Given the description of an element on the screen output the (x, y) to click on. 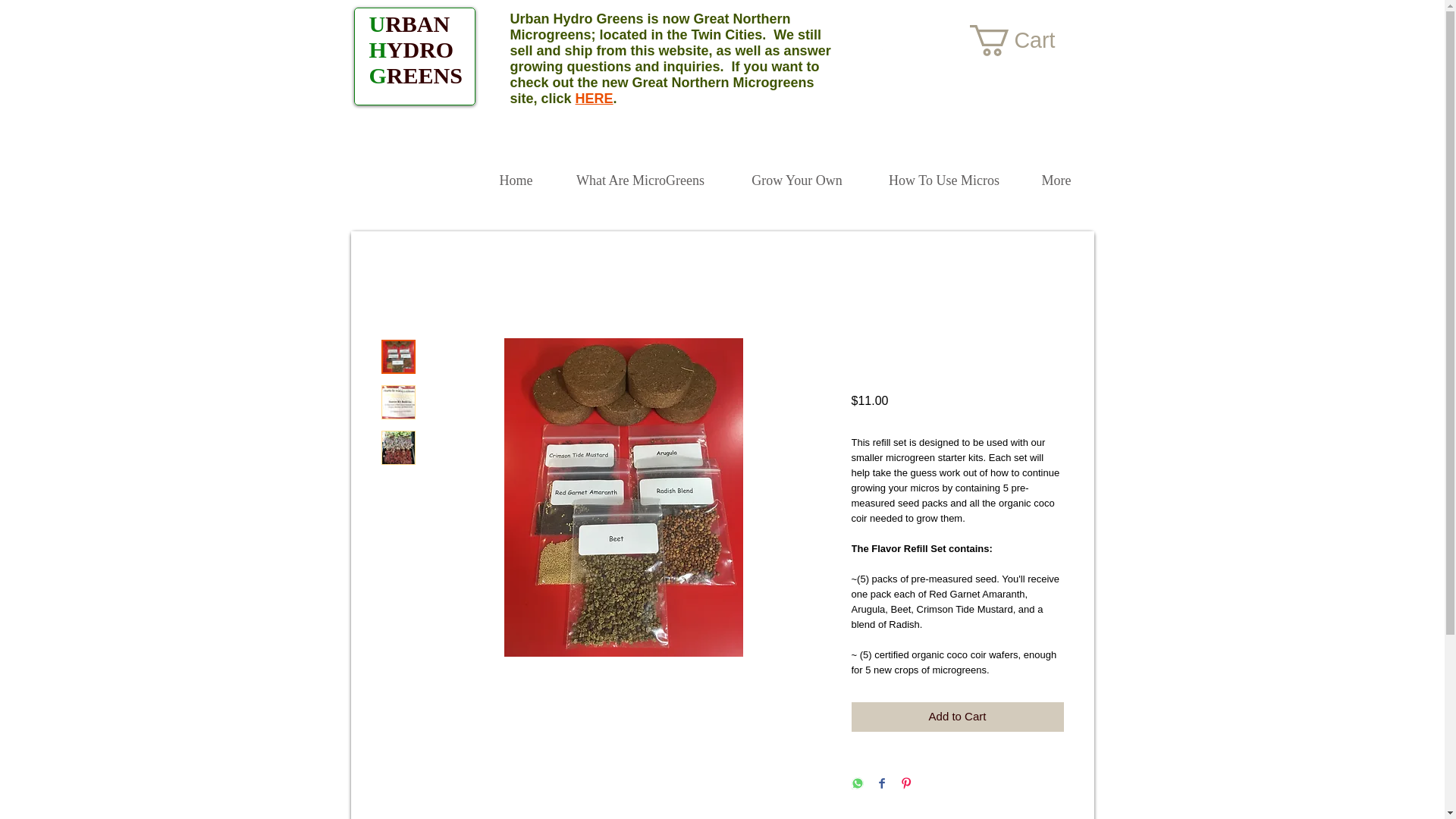
Cart (1029, 40)
What Are MicroGreens (639, 173)
Home (515, 173)
Add to Cart (956, 716)
Facebook Like (882, 23)
HERE (593, 98)
How To Use Micros (944, 173)
Cart (1029, 40)
Grow Your Own (796, 173)
